Given the description of an element on the screen output the (x, y) to click on. 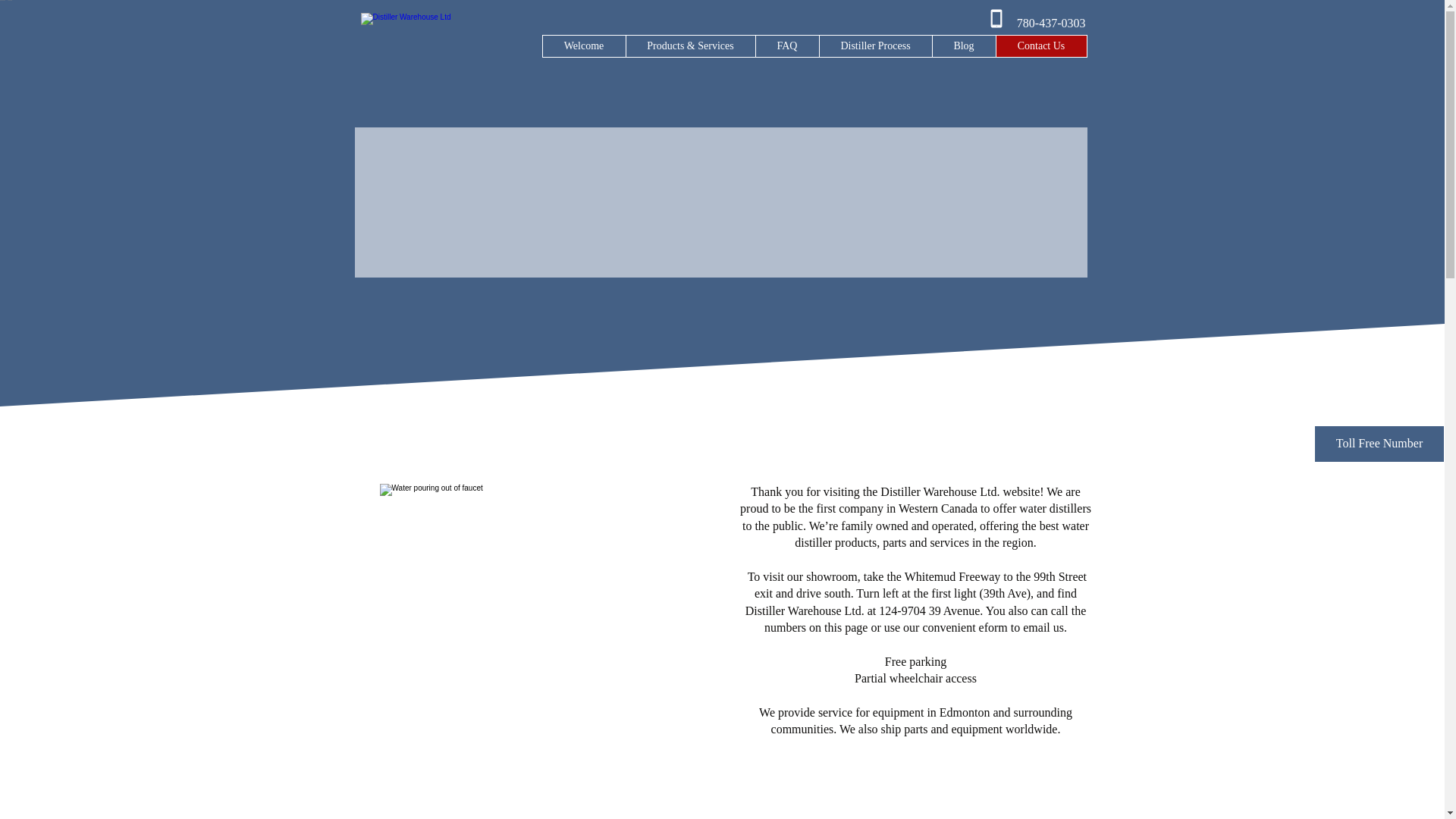
780-437-0303 (1051, 22)
Distiller Process (874, 46)
Contact Us (1040, 46)
Welcome (584, 46)
FAQ (786, 46)
Blog (962, 46)
